Given the description of an element on the screen output the (x, y) to click on. 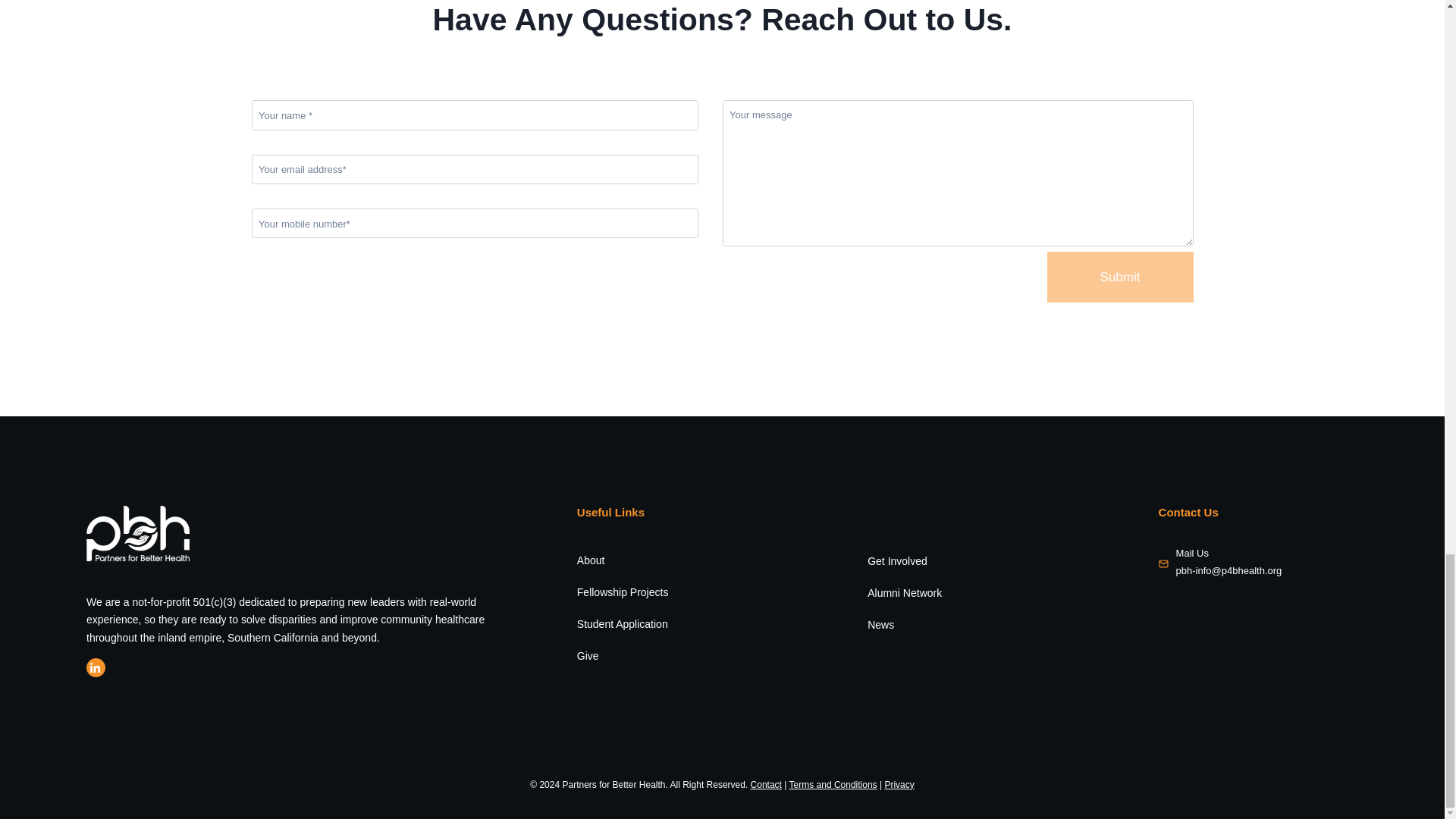
Give (587, 655)
Alumni Network (904, 592)
Fellowship Projects (622, 592)
Privacy (898, 784)
Terms and Conditions (833, 784)
News (880, 624)
Submit (1119, 276)
Get Involved (897, 561)
Student Application (622, 623)
Contact (766, 784)
